Given the description of an element on the screen output the (x, y) to click on. 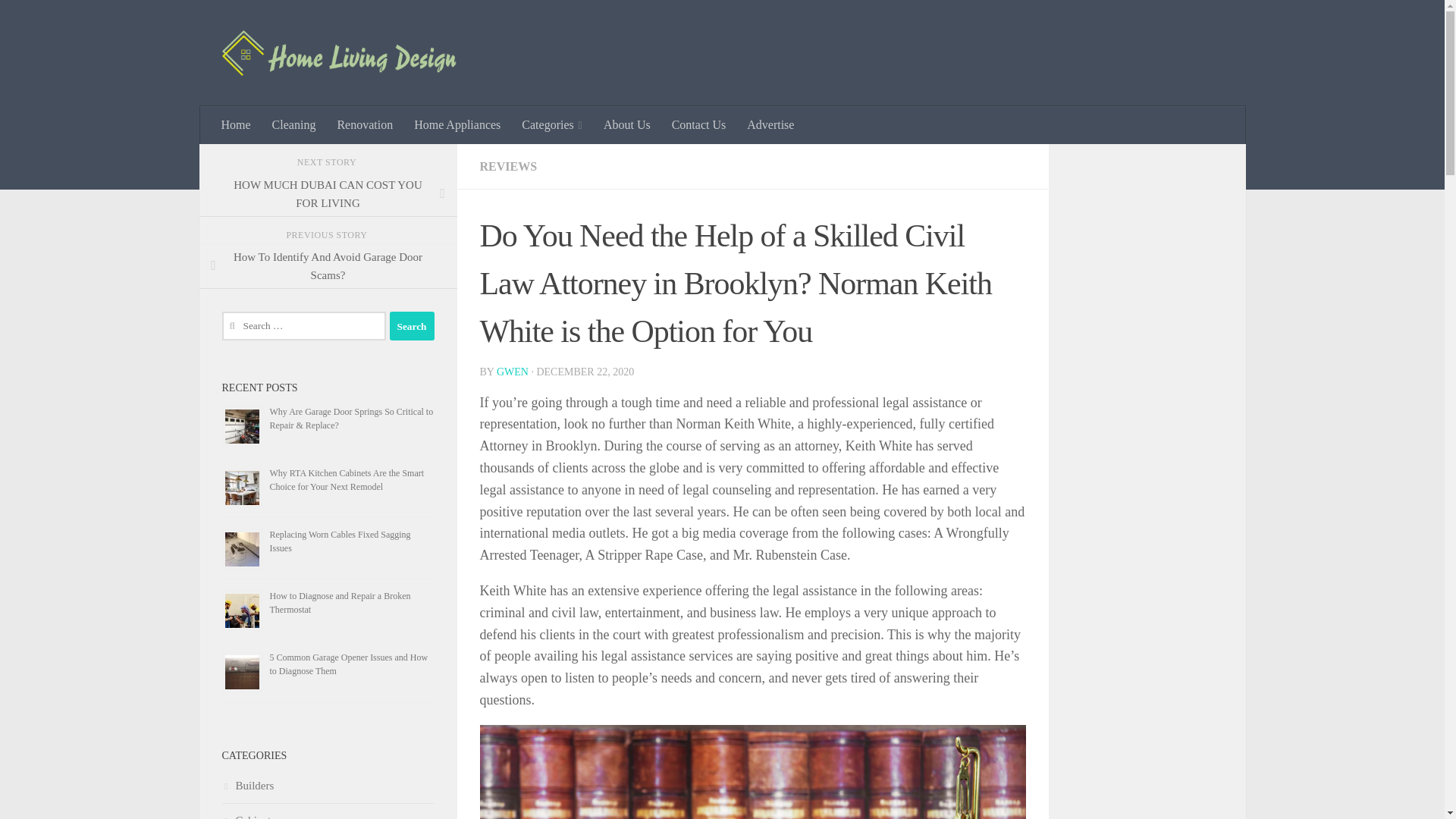
Search (411, 326)
Norman Keith White Law (752, 771)
Posts by Gwen (512, 371)
Renovation (364, 125)
Home Appliances (457, 125)
Search (411, 326)
Skip to content (59, 20)
Cleaning (294, 125)
Home (236, 125)
Categories (551, 125)
